Given the description of an element on the screen output the (x, y) to click on. 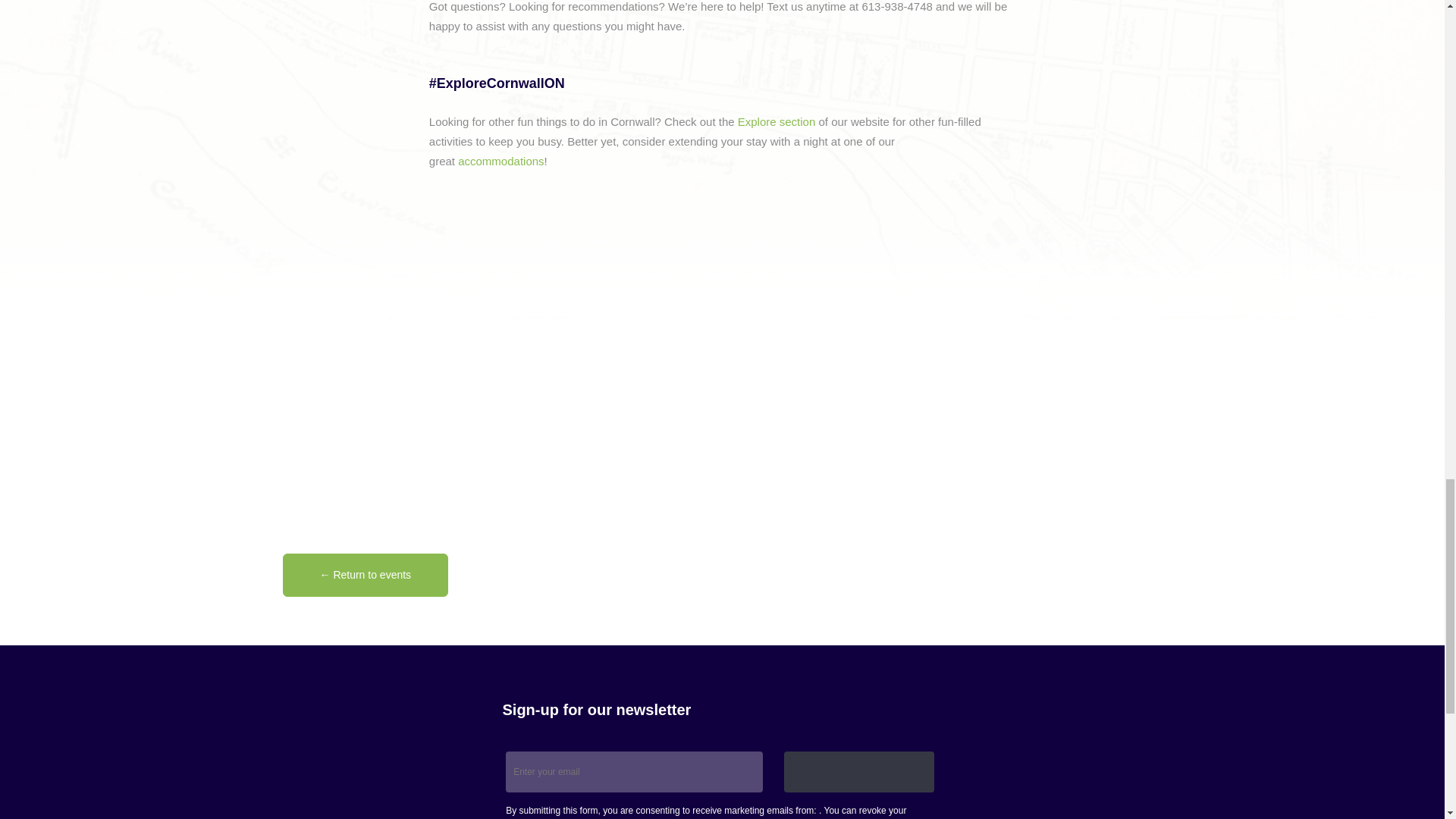
Sign up (859, 771)
